Given the description of an element on the screen output the (x, y) to click on. 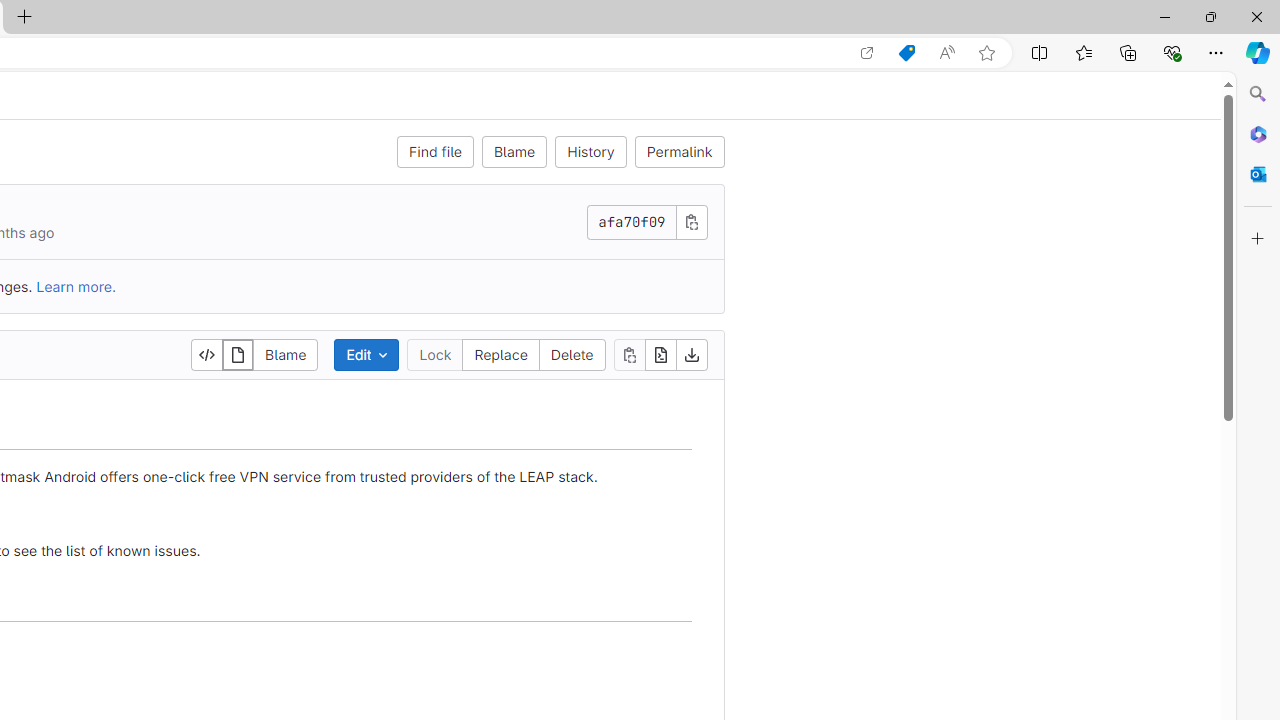
Learn more. (75, 286)
Permalink (678, 151)
Delete (571, 354)
Display rendered file (237, 354)
Replace (501, 354)
History (591, 151)
Blame (285, 354)
Display source (207, 354)
